Given the description of an element on the screen output the (x, y) to click on. 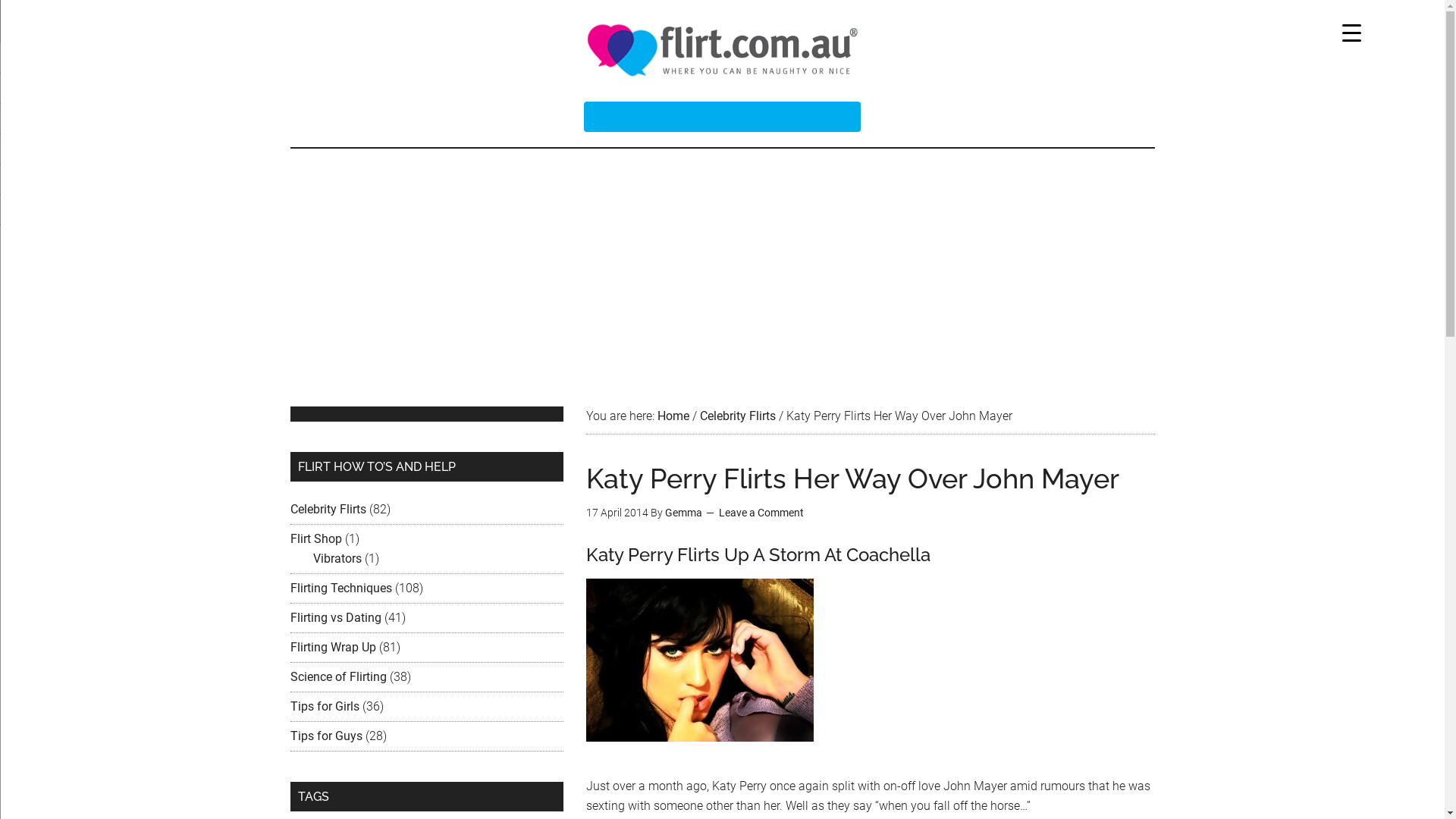
Flirting Techniques Element type: text (340, 587)
Tips for Guys Element type: text (325, 735)
Flirt Shop Element type: text (315, 538)
Vibrators Element type: text (336, 558)
Flirting vs Dating Element type: text (334, 617)
Home Element type: text (672, 415)
Gemma Element type: text (682, 512)
Flirting Wrap Up Element type: text (332, 647)
Tips for Girls Element type: text (323, 706)
Celebrity Flirts Element type: text (737, 415)
Celebrity Flirts Element type: text (327, 509)
Flirt.com.au Dating Australia Element type: text (721, 49)
Leave a Comment Element type: text (760, 512)
Science of Flirting Element type: text (337, 676)
Advertisement Element type: hover (721, 262)
